Given the description of an element on the screen output the (x, y) to click on. 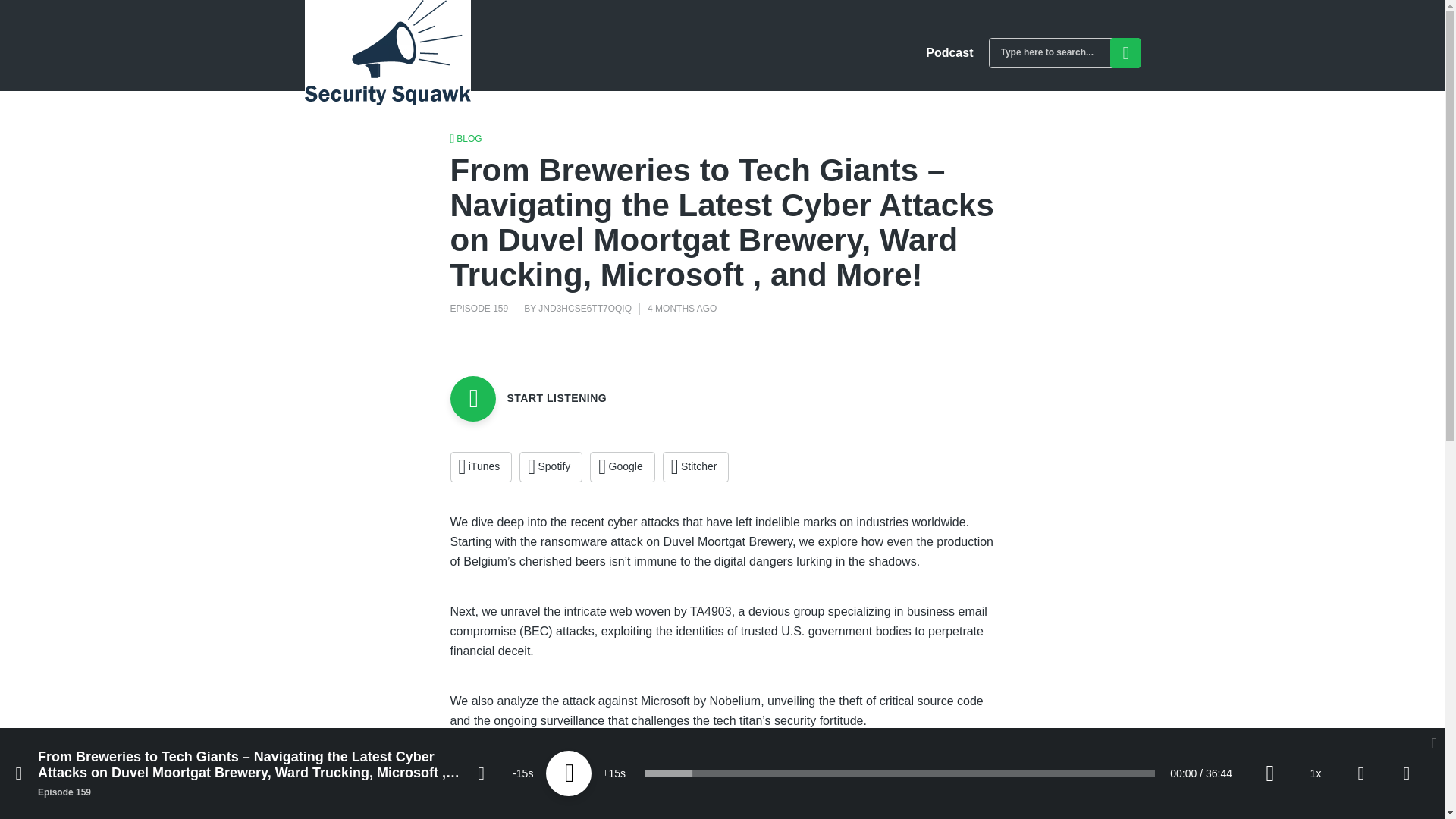
Podcast (949, 52)
Skip back 15 seconds (523, 773)
iTunes (480, 467)
Stitcher (695, 467)
Spotify (550, 467)
JND3HCSE6TT7OQIQ (584, 308)
Jump forward 15 seconds (614, 773)
SEARCH (1124, 52)
START LISTENING (528, 398)
share (1406, 773)
BLOG (465, 138)
Play (568, 773)
Speed Rate (1315, 773)
Subscribe (1361, 773)
Google (621, 467)
